Given the description of an element on the screen output the (x, y) to click on. 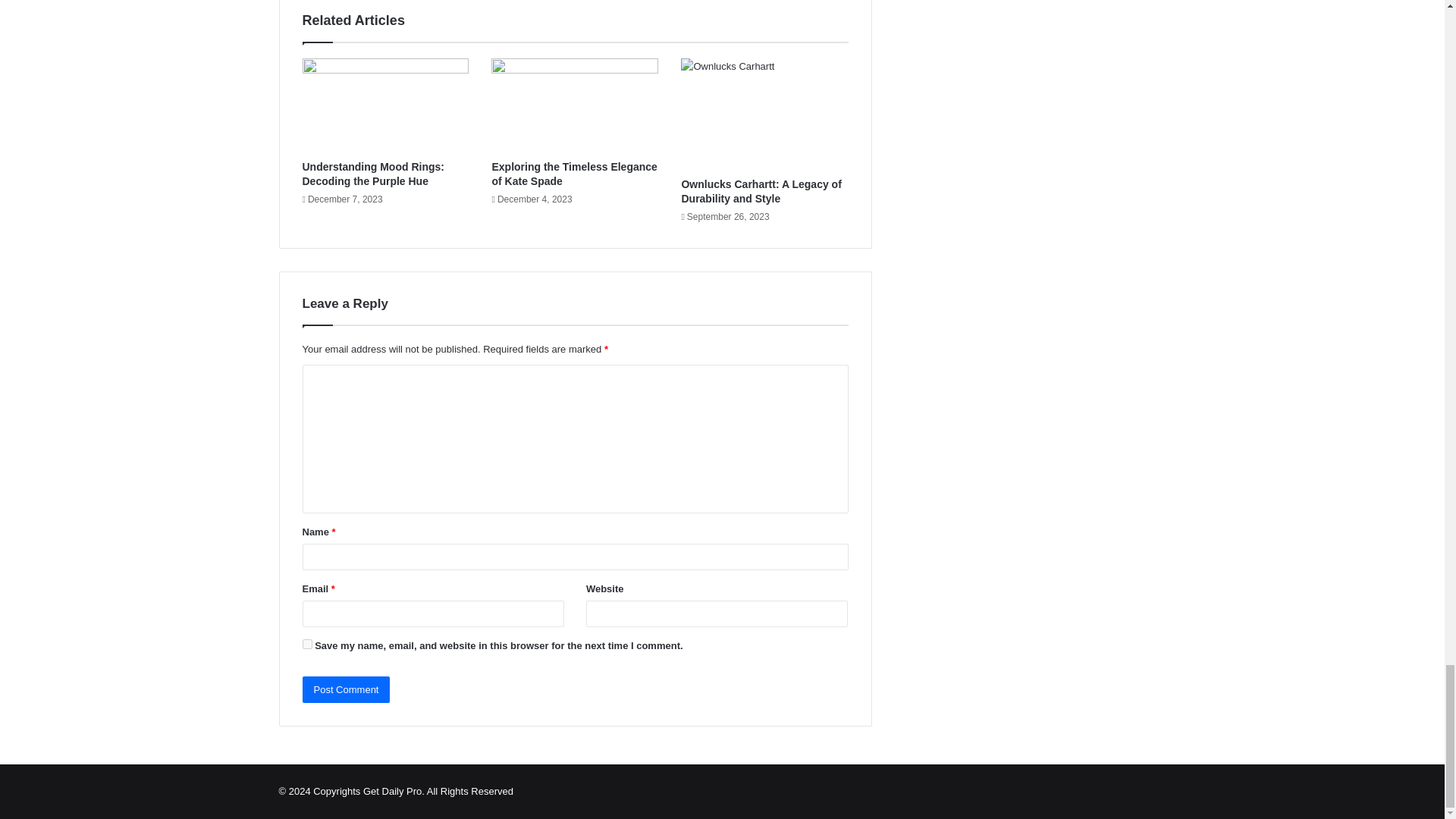
yes (306, 644)
Post Comment (345, 689)
